Given the description of an element on the screen output the (x, y) to click on. 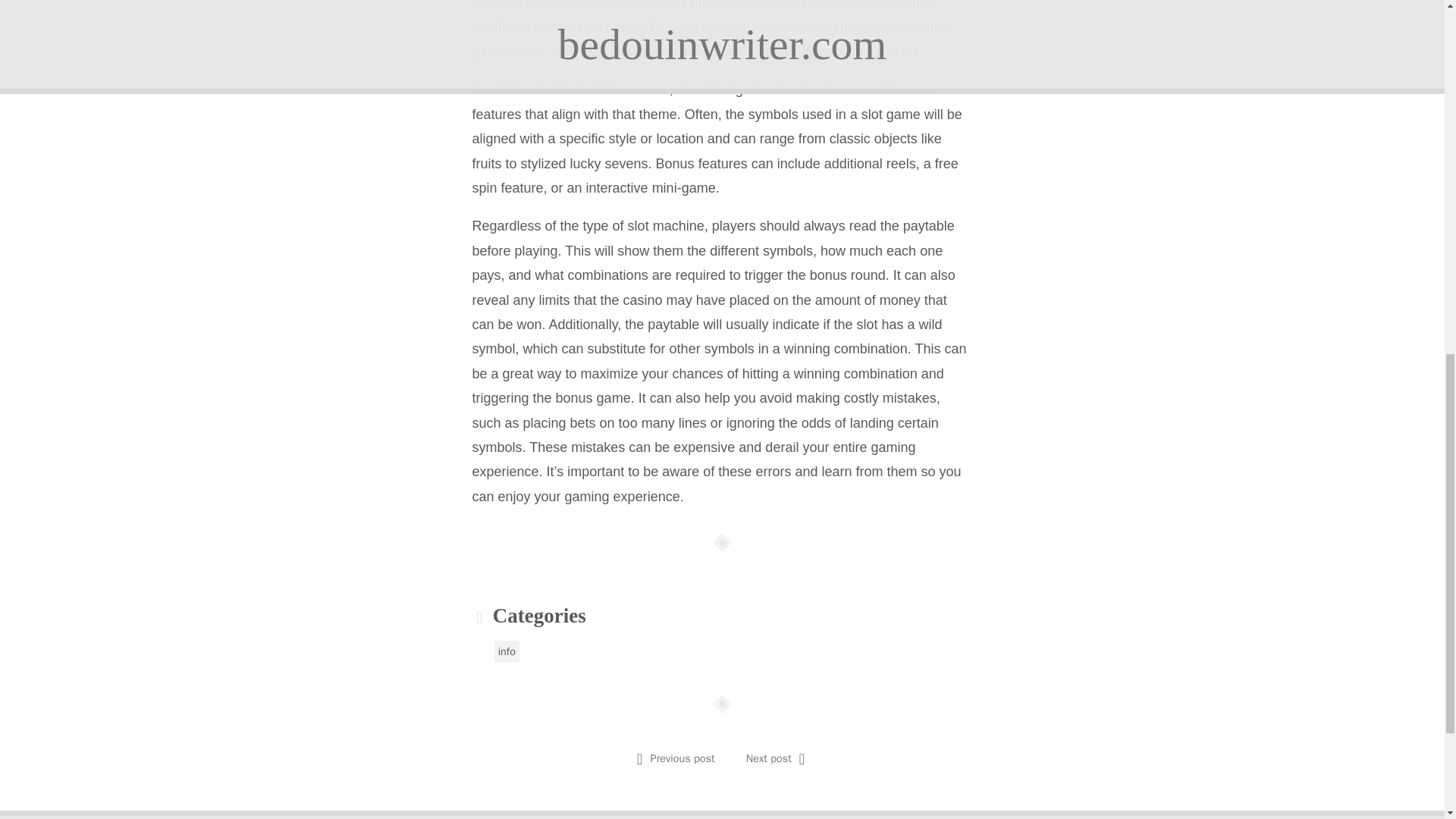
Next post (768, 757)
info (507, 650)
Previous post (682, 757)
